Given the description of an element on the screen output the (x, y) to click on. 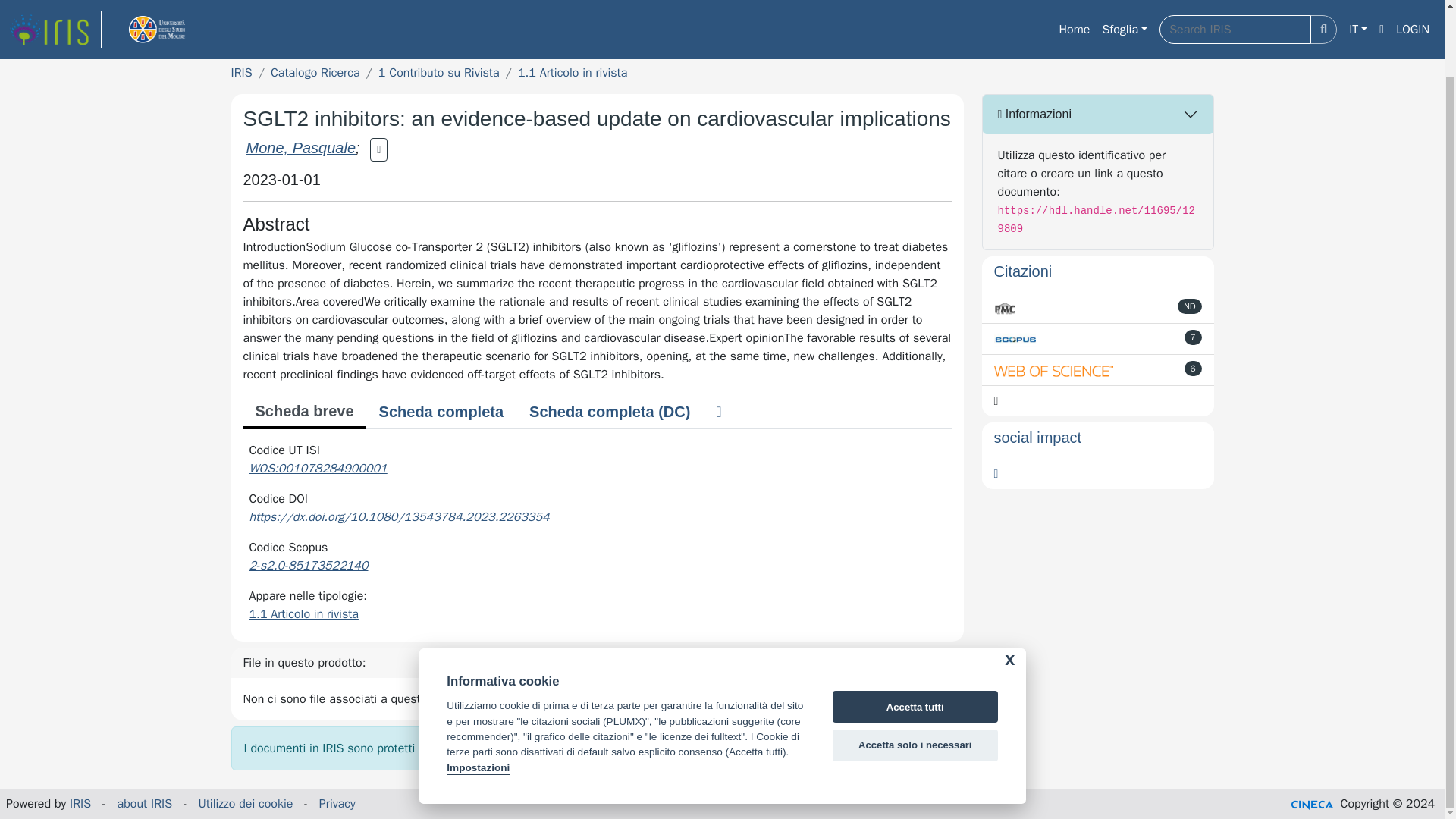
Catalogo Ricerca (314, 72)
IRIS (240, 72)
1.1 Articolo in rivista (572, 72)
1 Contributo su Rivista (438, 72)
Scheda completa (441, 411)
2-s2.0-85173522140 (308, 565)
WOS:001078284900001 (317, 468)
Scheda breve (304, 412)
1.1 Articolo in rivista (303, 613)
Mone, Pasquale (300, 147)
 Informazioni (1097, 114)
aggiornato in data 10-07-2024 17:42 (1193, 337)
